Given the description of an element on the screen output the (x, y) to click on. 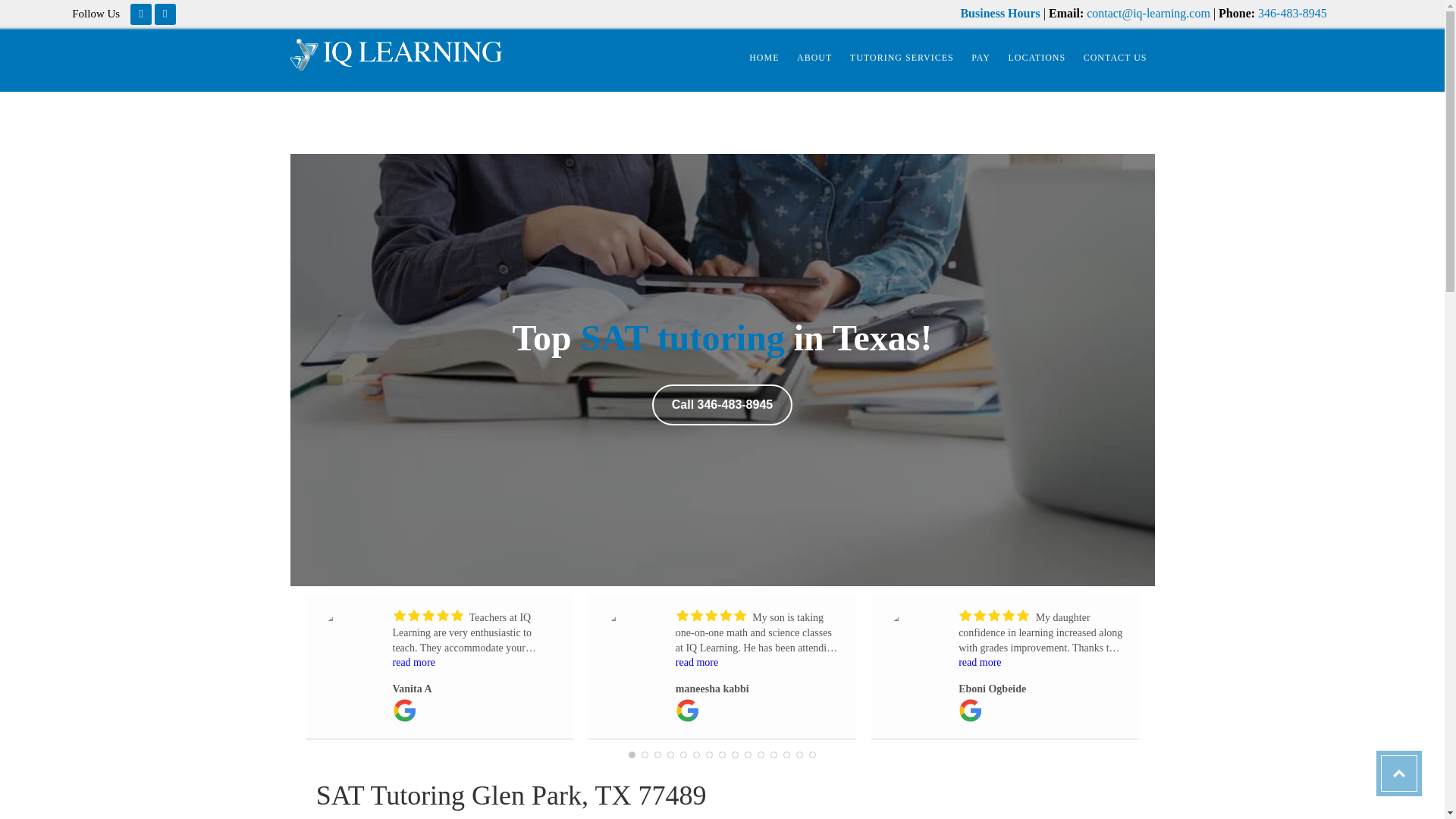
SAT Curriculum (682, 337)
PAY (980, 58)
Call 346-483-8945 (722, 404)
ABOUT (814, 58)
HOME (763, 58)
TUTORING SERVICES (901, 58)
SAT tutoring (682, 337)
LOCATIONS (1037, 58)
CONTACT US (1114, 58)
